Given the description of an element on the screen output the (x, y) to click on. 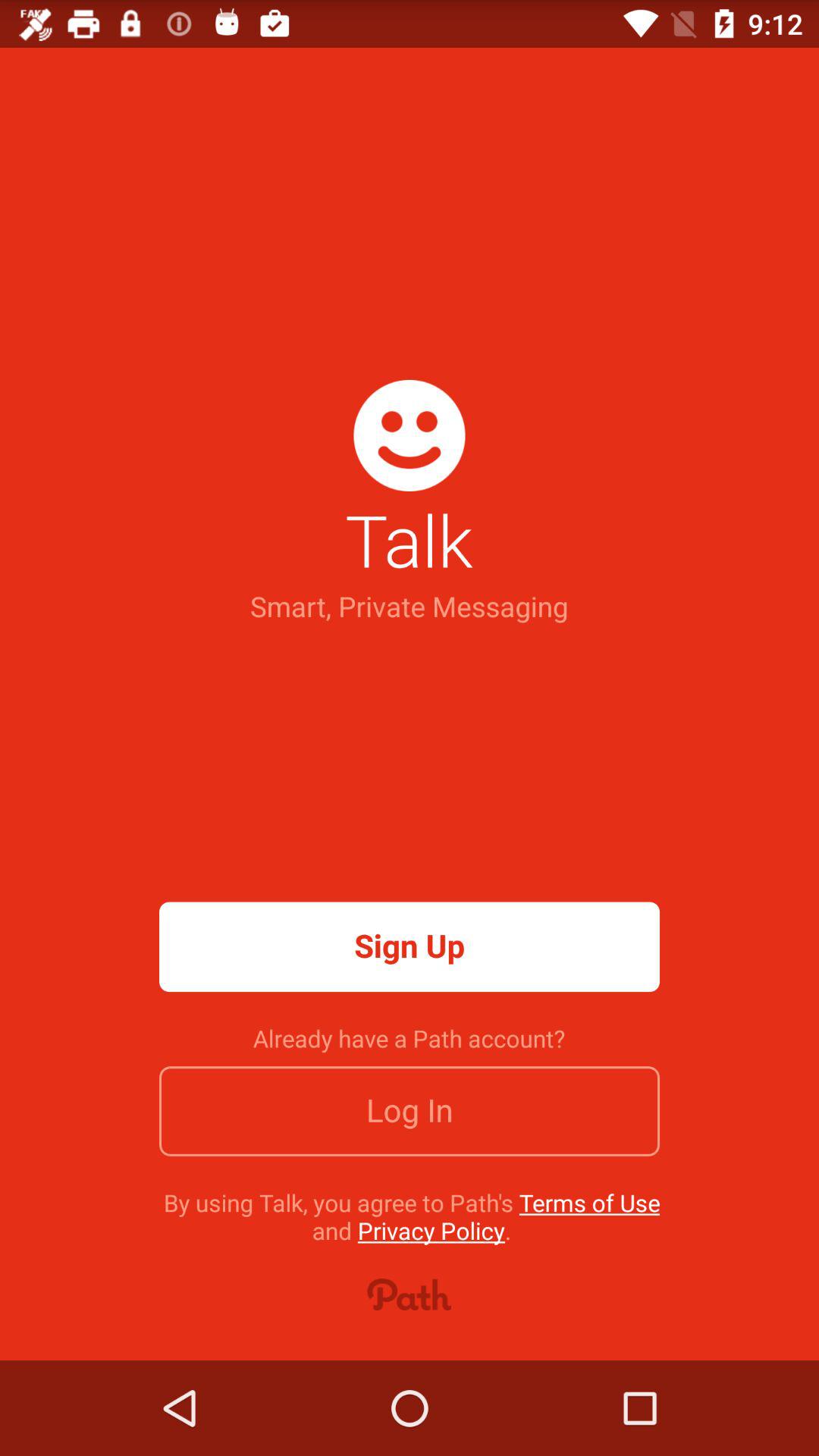
jump until the by using talk icon (411, 1216)
